Given the description of an element on the screen output the (x, y) to click on. 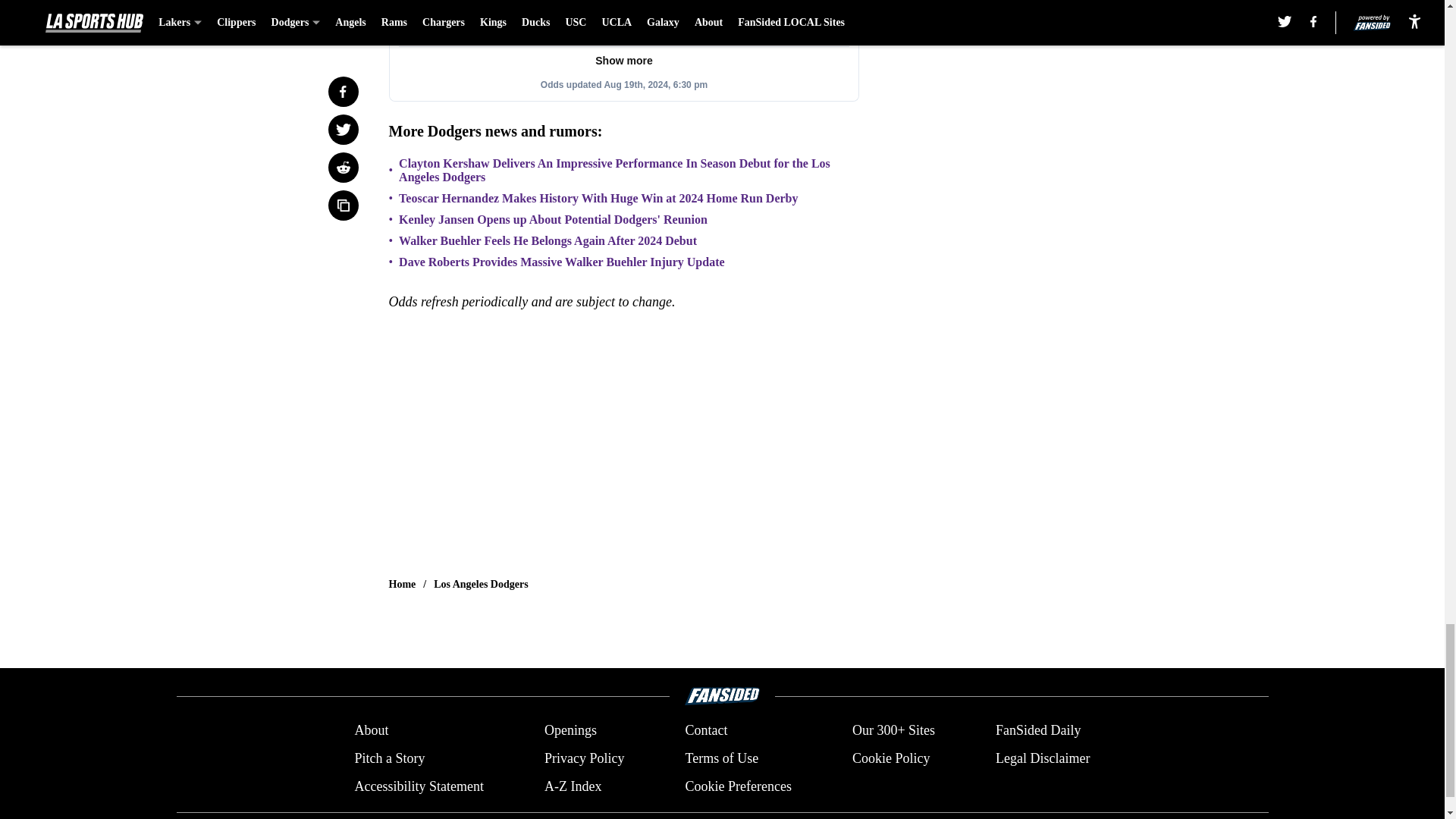
tallysight (623, 51)
Dave Roberts Provides Massive Walker Buehler Injury Update (560, 262)
Walker Buehler Feels He Belongs Again After 2024 Debut (547, 241)
Kenley Jansen Opens up About Potential Dodgers' Reunion (552, 219)
